Given the description of an element on the screen output the (x, y) to click on. 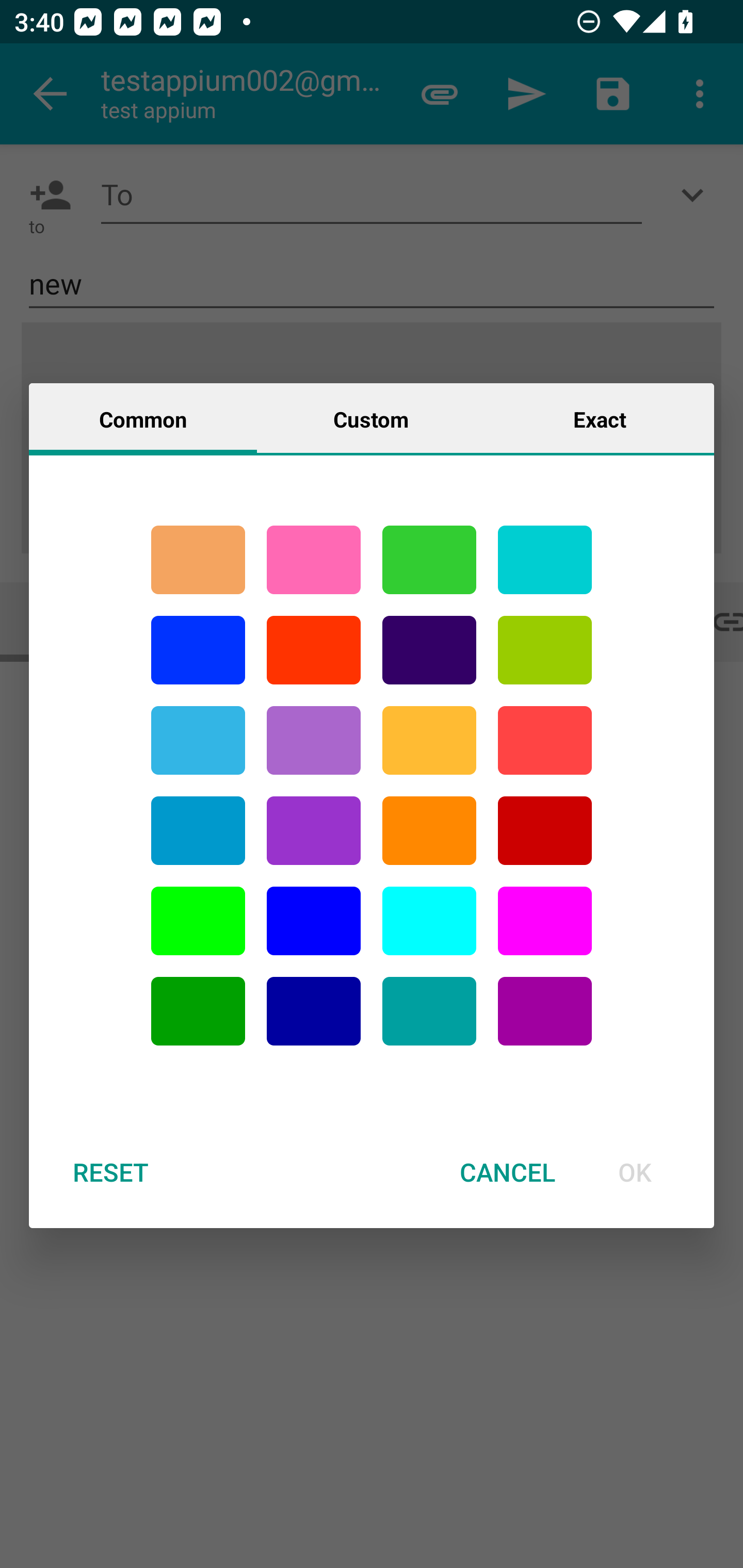
Common (142, 418)
Custom (371, 418)
Exact (599, 418)
Peach (197, 559)
Pink (313, 559)
Green (429, 559)
Cyan (544, 559)
Blue (197, 649)
Red (313, 649)
Dark purple (429, 649)
Light green (544, 649)
Cyan (197, 739)
Purple (313, 739)
Light orange (429, 739)
Light red (544, 739)
Dark cyan (197, 830)
Purple (313, 830)
Orange (429, 830)
Dark red (544, 830)
Light green (197, 920)
Blue (313, 920)
Light cyan (429, 920)
Light purple (544, 920)
Dark green (197, 1010)
Dark blue (313, 1010)
Cyan (429, 1010)
Purple (544, 1010)
RESET (110, 1171)
CANCEL (507, 1171)
OK (634, 1171)
